Given the description of an element on the screen output the (x, y) to click on. 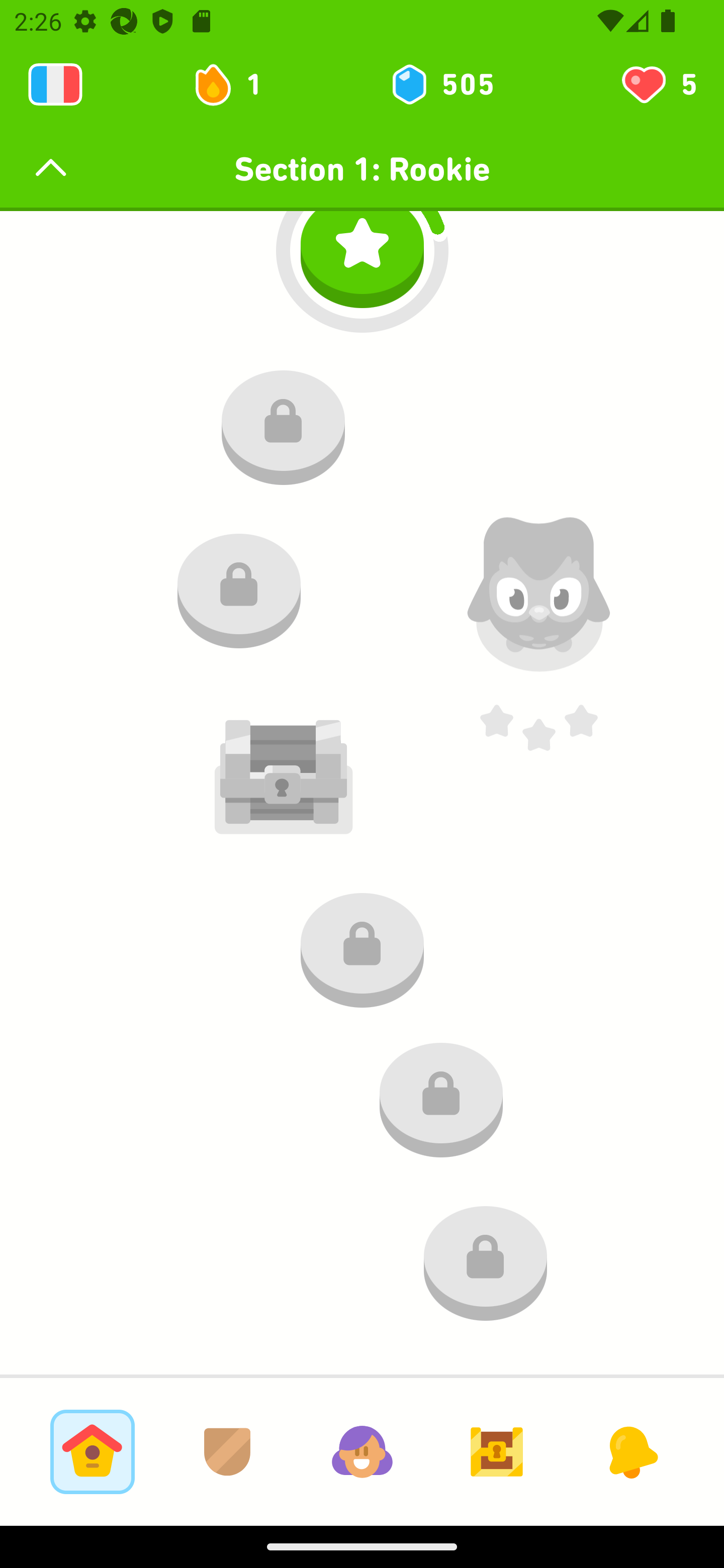
Learning 2131888976 (55, 84)
1 day streak 1 (236, 84)
505 (441, 84)
You have 5 hearts left 5 (657, 84)
Section 1: Rookie (362, 169)
Learn Tab (91, 1451)
Leagues Tab (227, 1451)
Profile Tab (361, 1451)
Goals Tab (496, 1451)
News Tab (631, 1451)
